Given the description of an element on the screen output the (x, y) to click on. 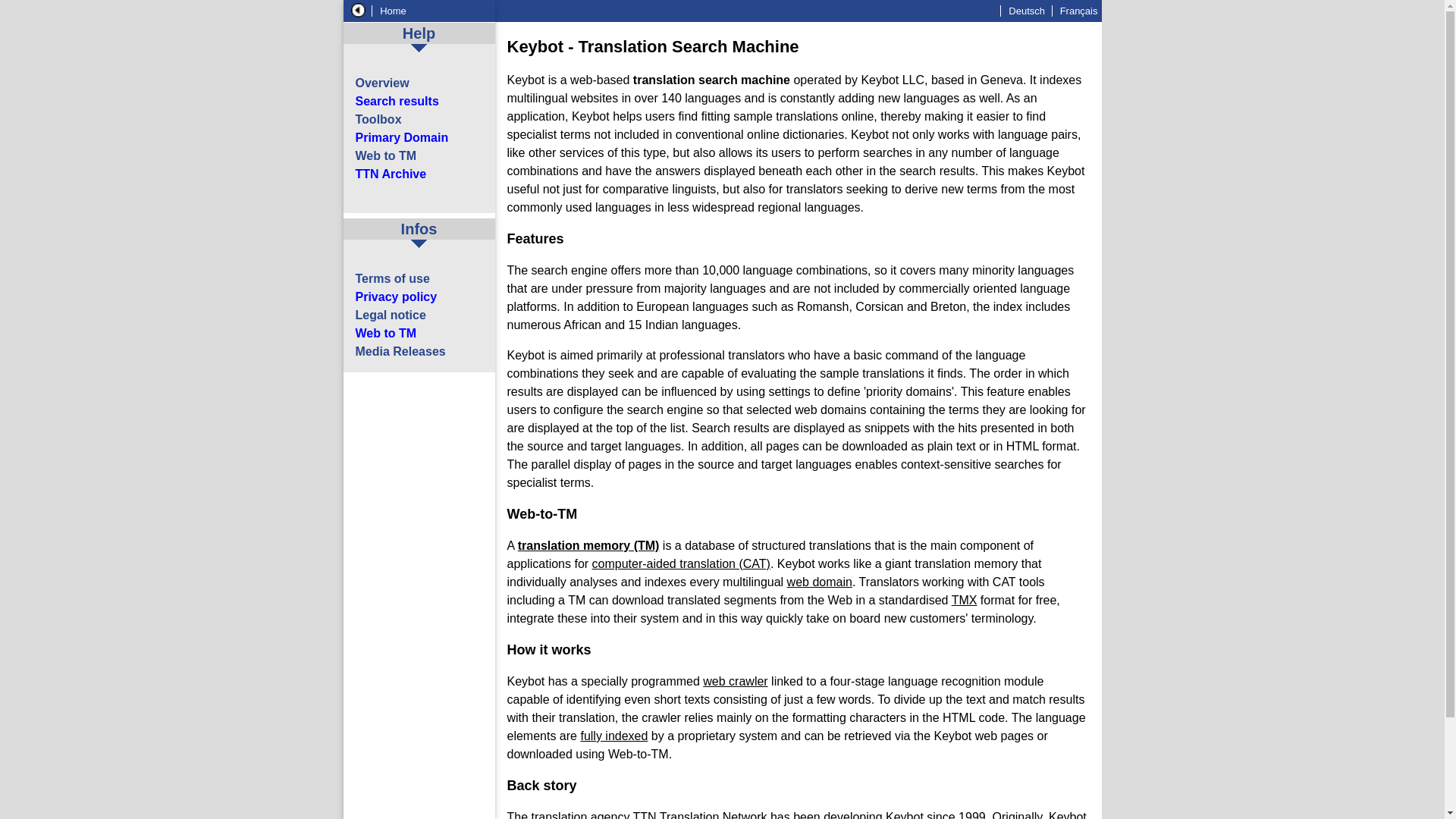
Deutsch (1024, 10)
fully indexed (613, 735)
web crawler (735, 680)
Web to TM (385, 155)
Overview (382, 82)
Terms of use (392, 278)
web domain (819, 581)
Primary Domain (401, 137)
TTN Archive (390, 173)
Media Releases (400, 350)
Web to TM (385, 332)
Search results (396, 101)
TMX (964, 599)
Privacy policy (395, 296)
Home (390, 10)
